Given the description of an element on the screen output the (x, y) to click on. 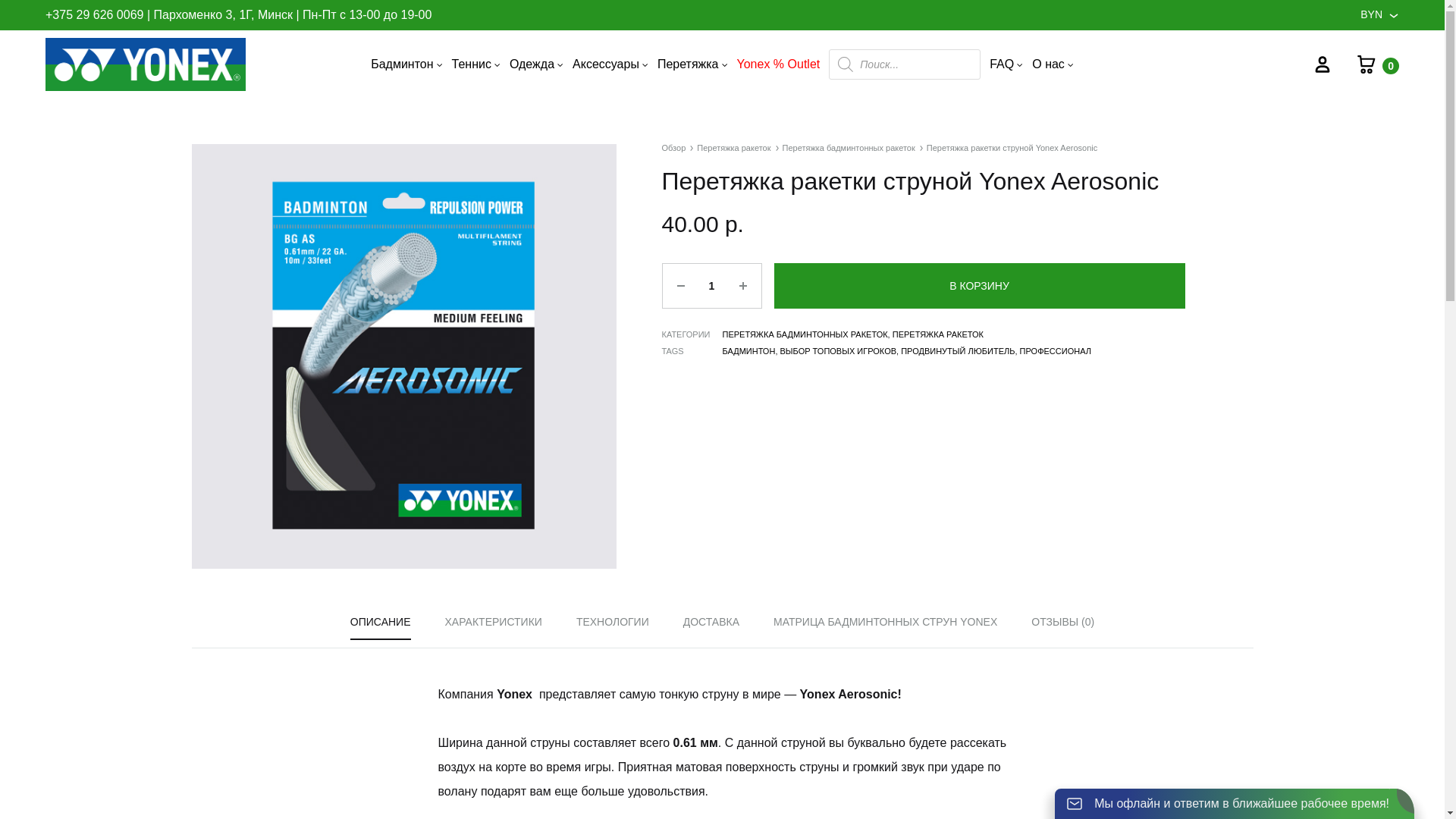
+375 29 626 0069 Element type: text (94, 14)
Yonex % Outlet Element type: text (778, 64)
FAQ Element type: text (1005, 64)
